Given the description of an element on the screen output the (x, y) to click on. 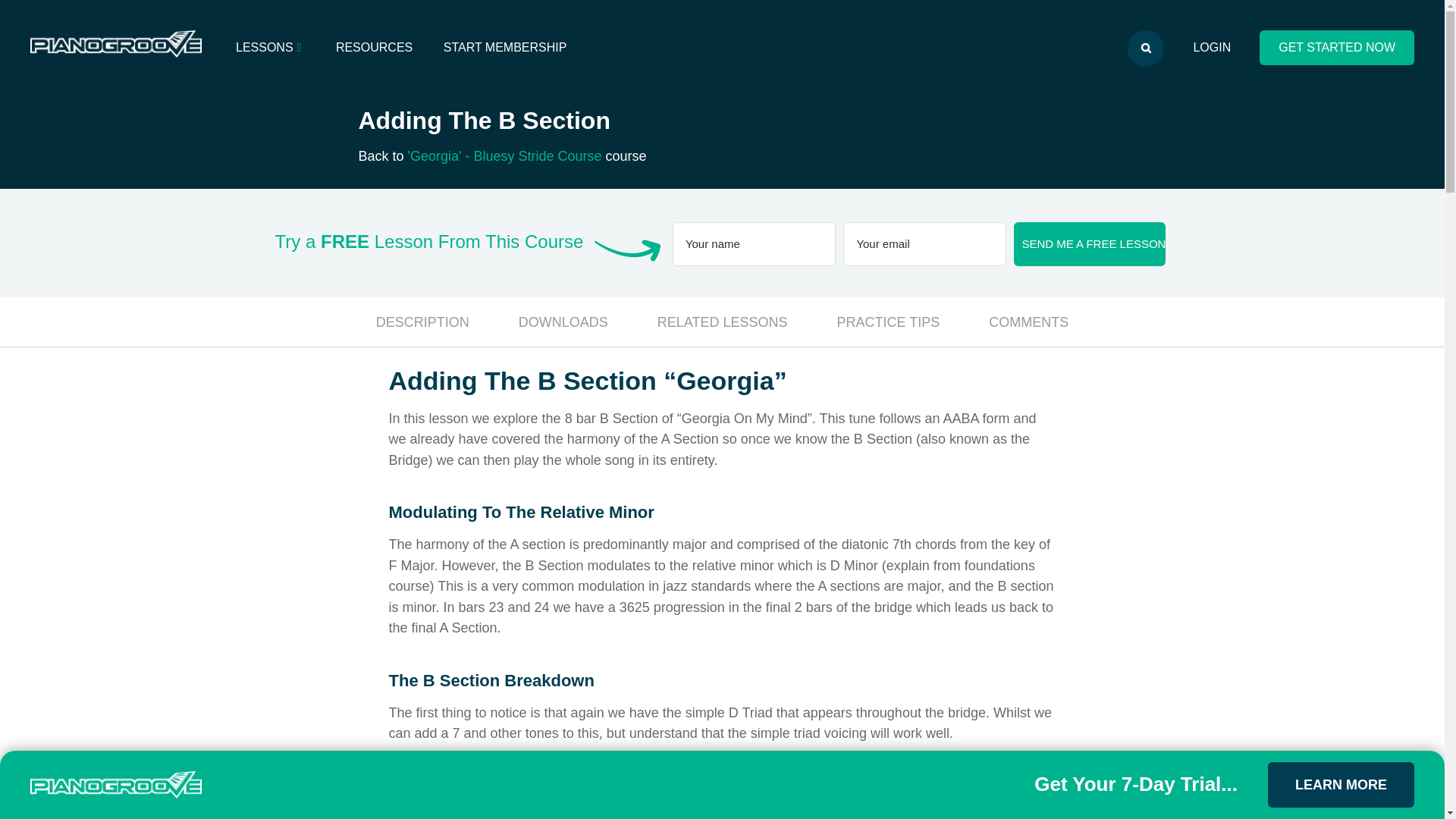
PIANOGROOVE.COM (116, 45)
RELATED LESSONS (722, 321)
RESOURCES (373, 47)
DOWNLOADS (563, 321)
GET STARTED NOW (1336, 47)
LESSONS (270, 47)
COMMENTS (1028, 321)
START MEMBERSHIP (504, 47)
DESCRIPTION (421, 321)
'Georgia' - Bluesy Stride Course (504, 155)
LOGIN (1211, 47)
PRACTICE TIPS (888, 321)
